Given the description of an element on the screen output the (x, y) to click on. 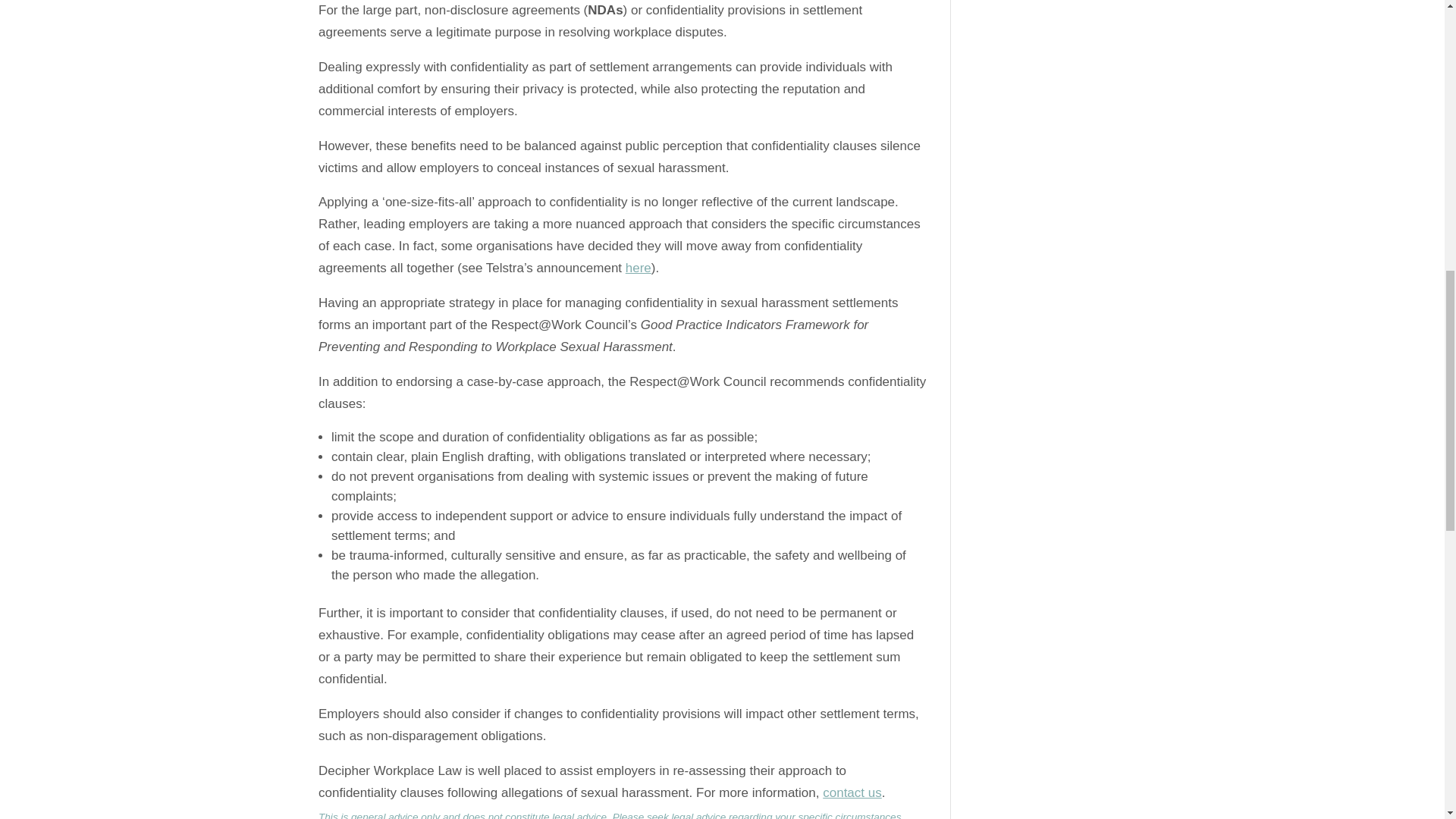
contact us (852, 792)
here (638, 268)
